Given the description of an element on the screen output the (x, y) to click on. 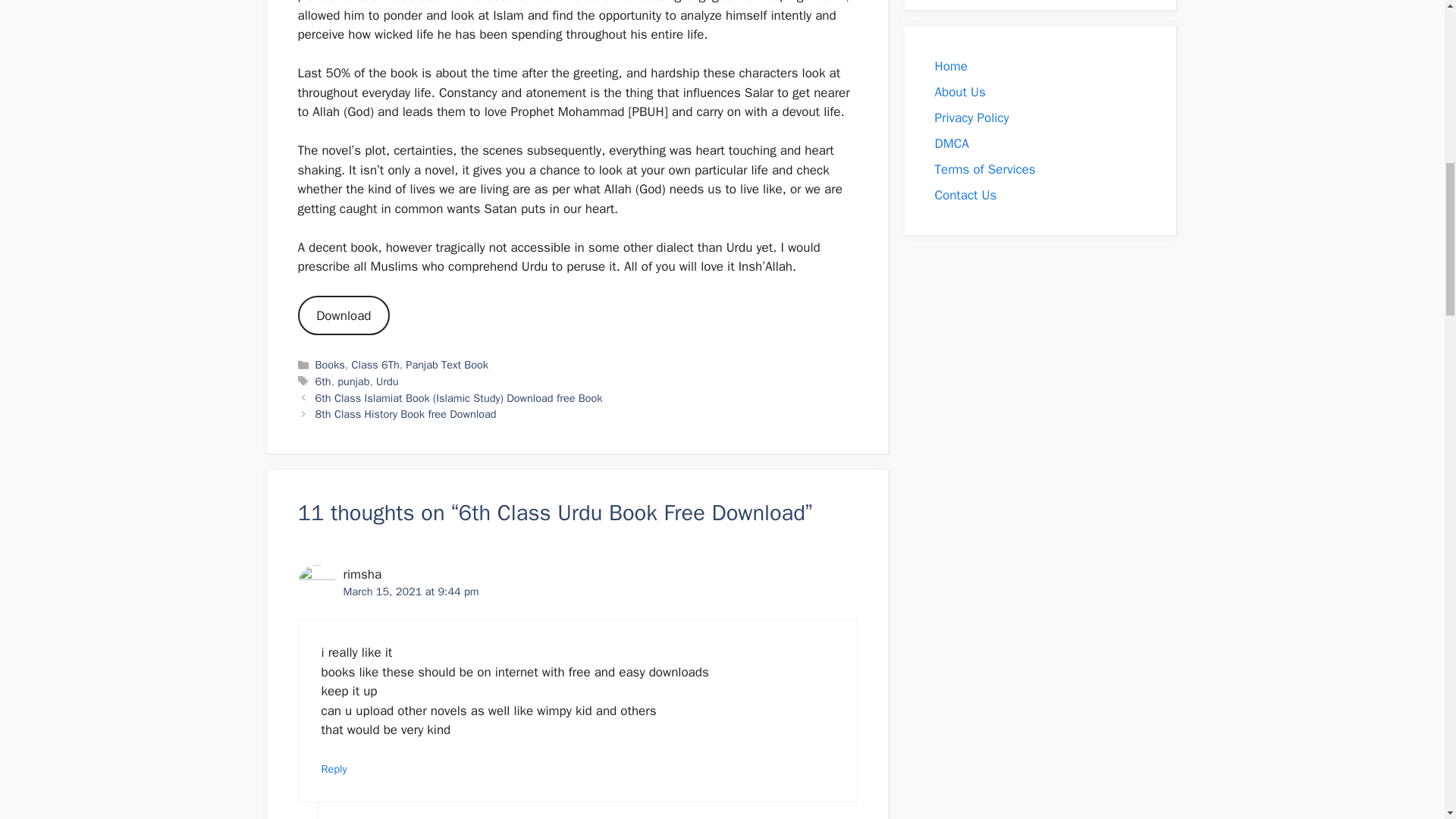
Panjab Text Book (446, 364)
8th Class History Book free Download (405, 413)
Class 6Th (375, 364)
March 15, 2021 at 9:44 pm (410, 591)
Download (343, 314)
Urdu (386, 381)
Reply (334, 768)
punjab (353, 381)
Books (330, 364)
6th (323, 381)
